Given the description of an element on the screen output the (x, y) to click on. 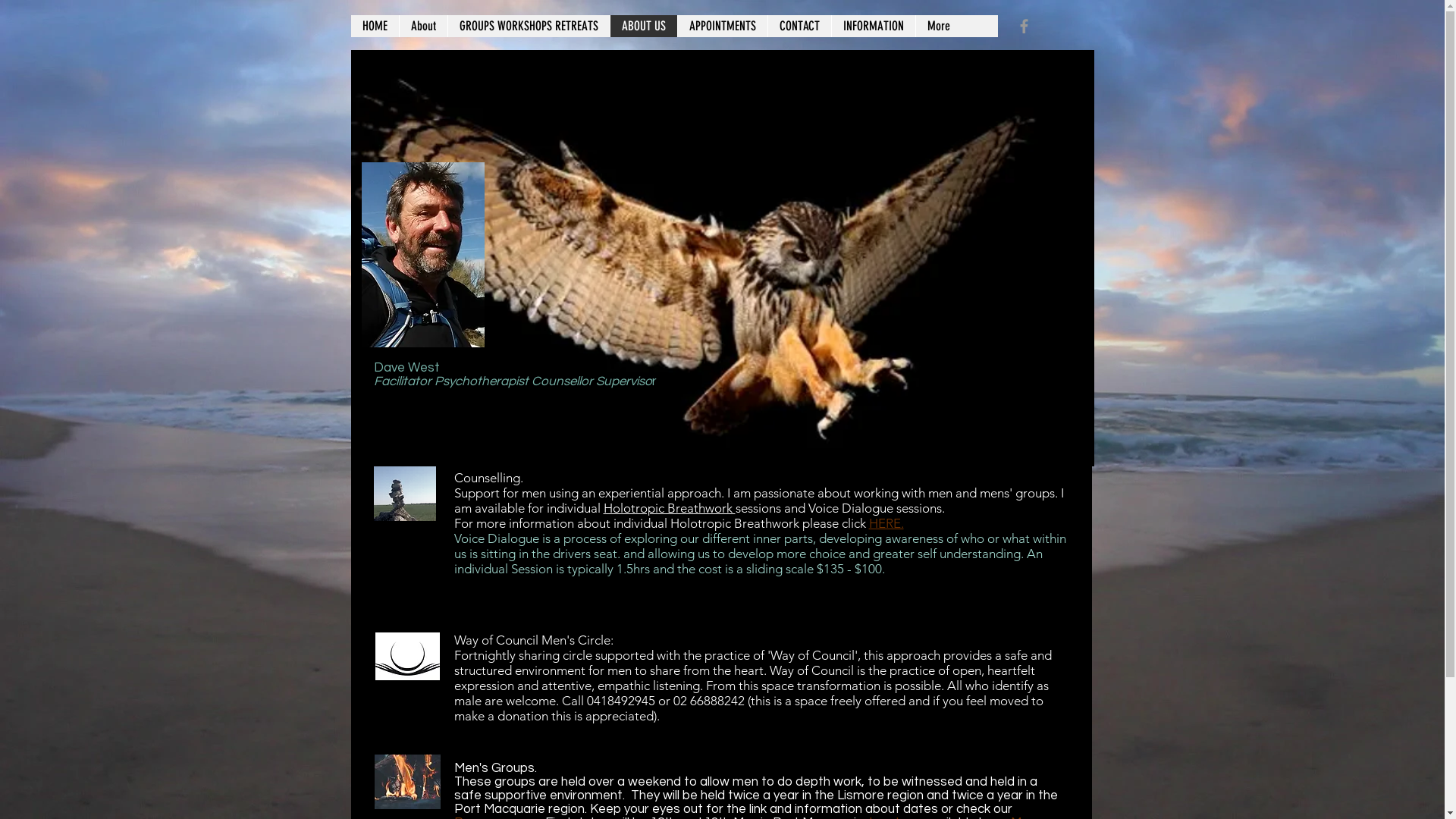
HERE. Element type: text (886, 522)
CONTACT Element type: text (799, 26)
ABOUT US Element type: text (643, 26)
GROUPS WORKSHOPS RETREATS Element type: text (528, 26)
Holotropic Breathwork Element type: text (669, 507)
APPOINTMENTS Element type: text (721, 26)
About Element type: text (422, 26)
HOME Element type: text (374, 26)
INFORMATION Element type: text (873, 26)
